Given the description of an element on the screen output the (x, y) to click on. 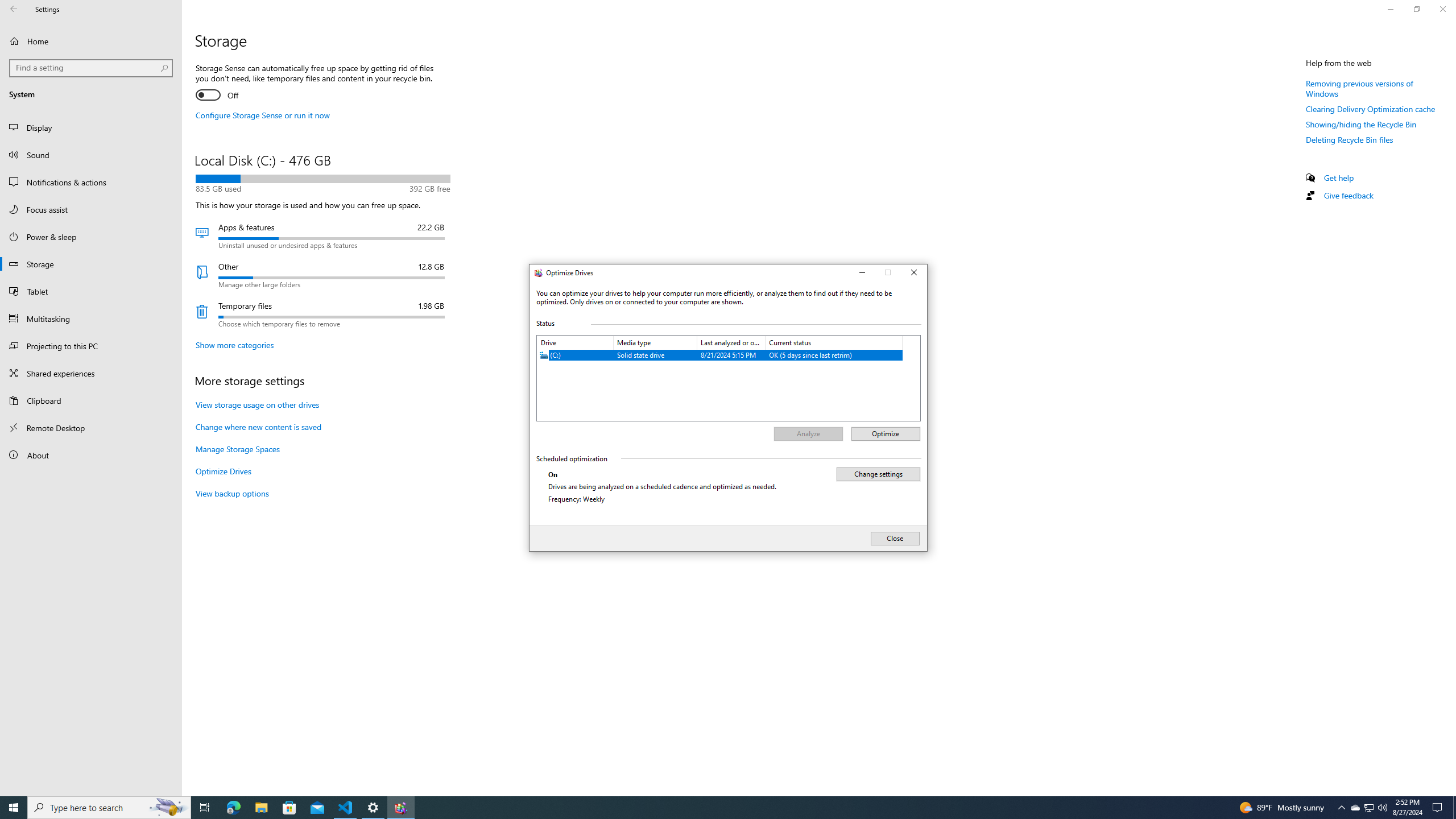
Type here to search (108, 807)
Change settings (877, 473)
Action Center, No new notifications (1439, 807)
Microsoft Edge (1355, 807)
Running applications (233, 807)
Close (717, 807)
(C:) (914, 272)
Defragment and Optimize Drives - 1 running window (719, 354)
User Promoted Notification Area (400, 807)
Visual Studio Code - 1 running window (1368, 807)
Minimize (1368, 807)
Search highlights icon opens search home window (345, 807)
